Given the description of an element on the screen output the (x, y) to click on. 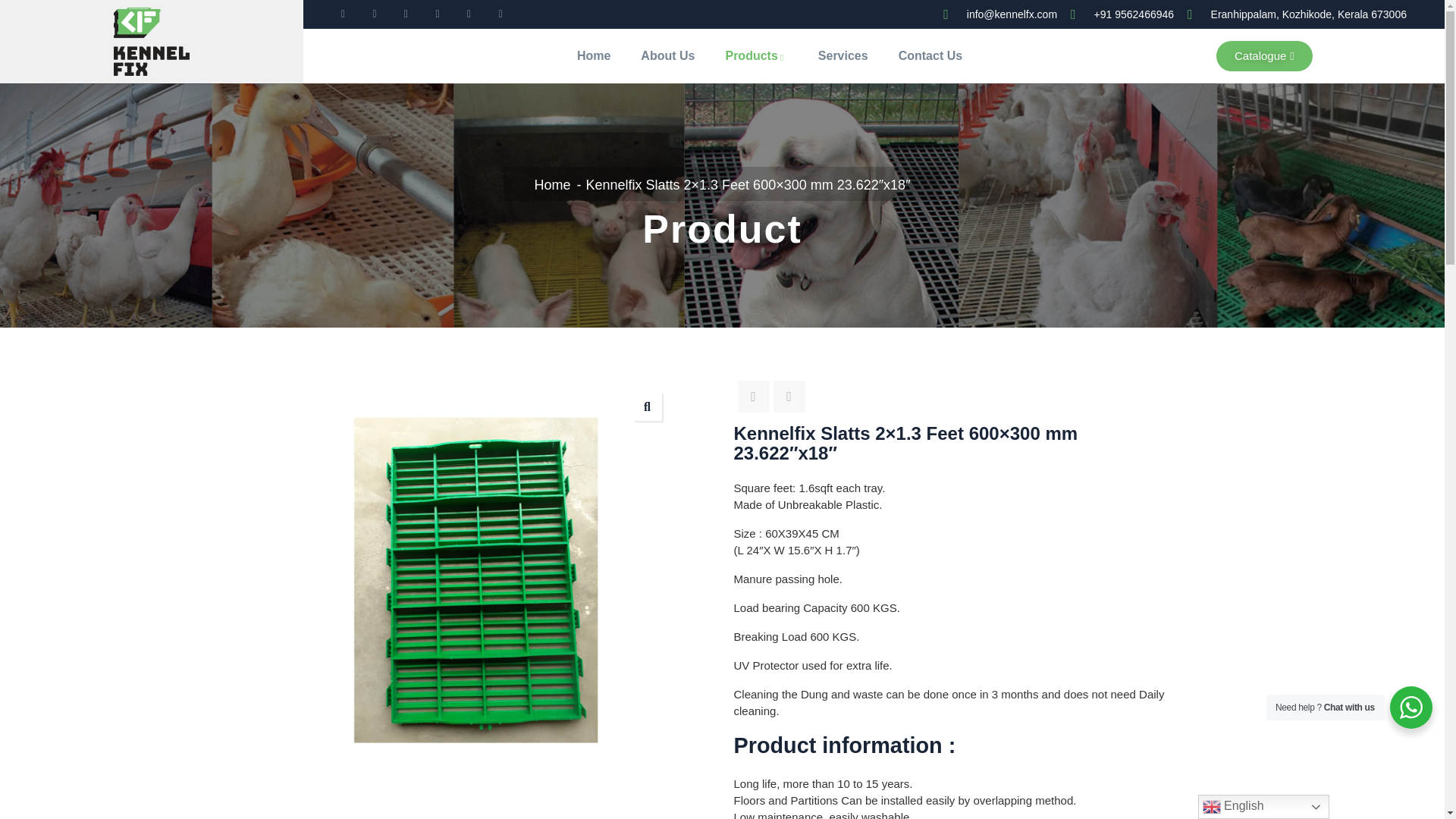
Home (151, 41)
Home (552, 184)
Catalogue (1264, 55)
Contact Us (929, 56)
Eranhippalam, Kozhikode, Kerala 673006 (1297, 14)
Products (756, 56)
About Us (668, 56)
Home (594, 56)
Services (843, 56)
